Given the description of an element on the screen output the (x, y) to click on. 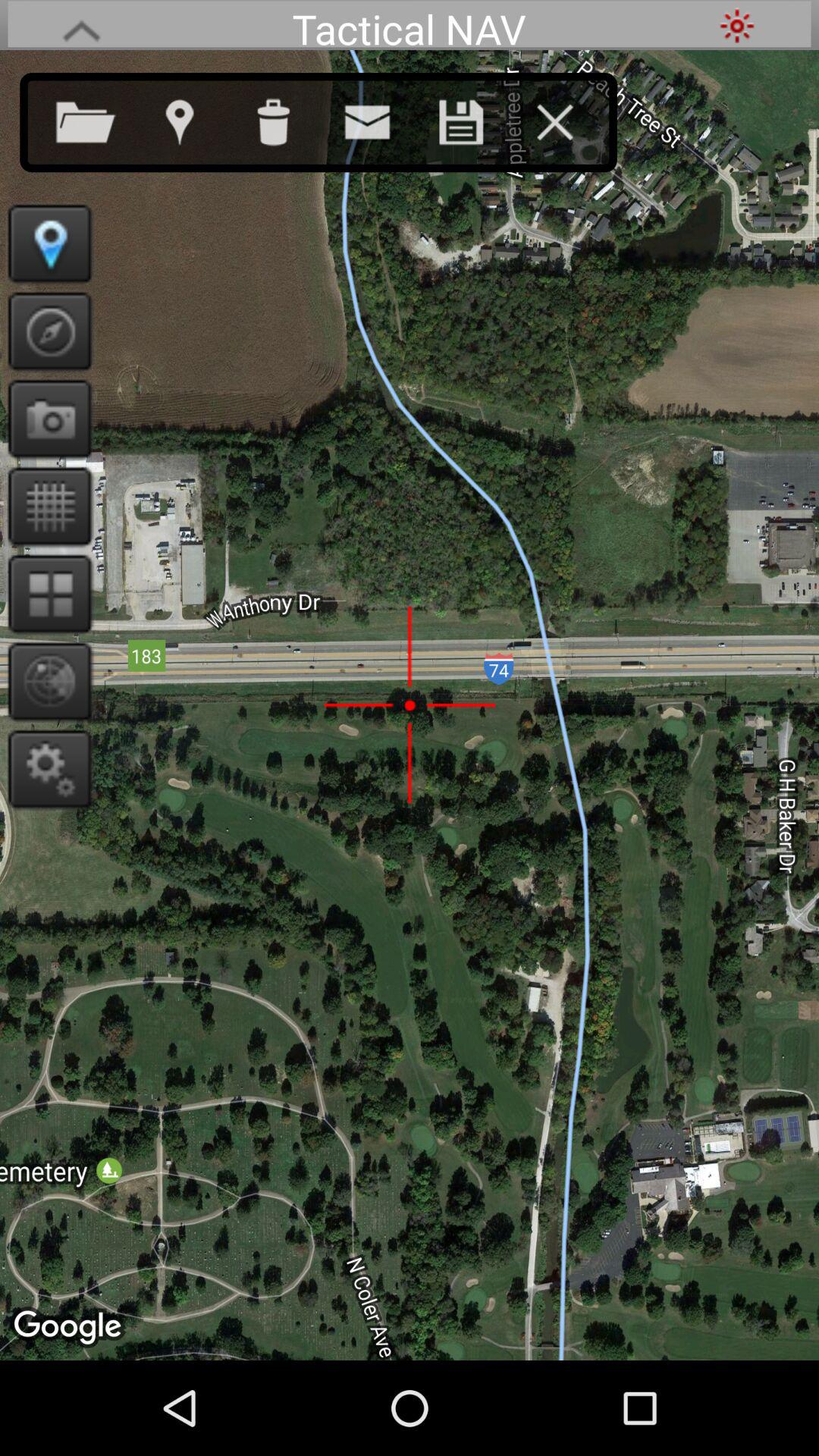
opens settings (45, 768)
